Given the description of an element on the screen output the (x, y) to click on. 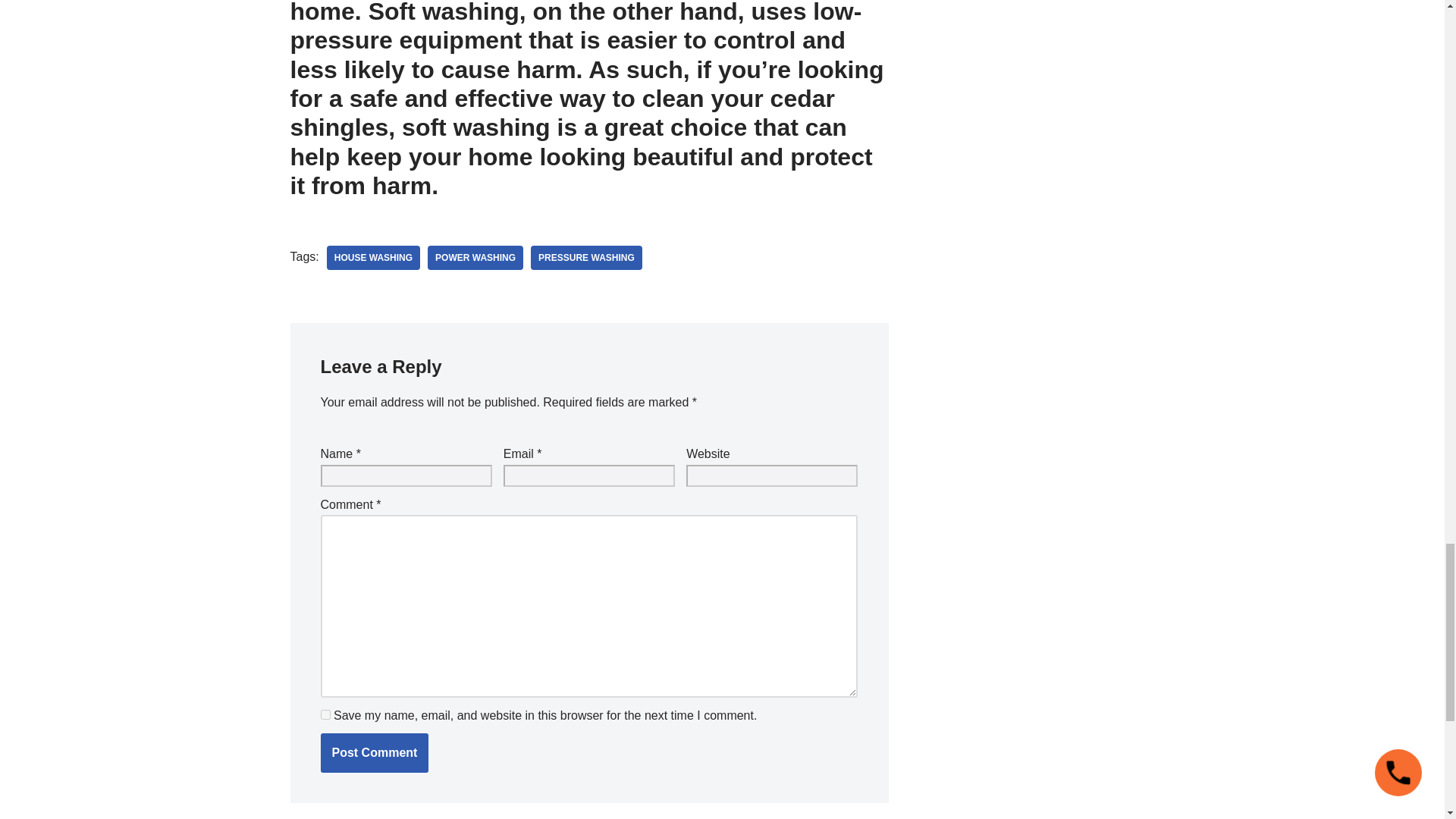
Post Comment (374, 753)
POWER WASHING (475, 257)
House Washing (373, 257)
Pressure washing (586, 257)
yes (325, 714)
PRESSURE WASHING (586, 257)
Post Comment (374, 753)
HOUSE WASHING (373, 257)
power washing (475, 257)
